Given the description of an element on the screen output the (x, y) to click on. 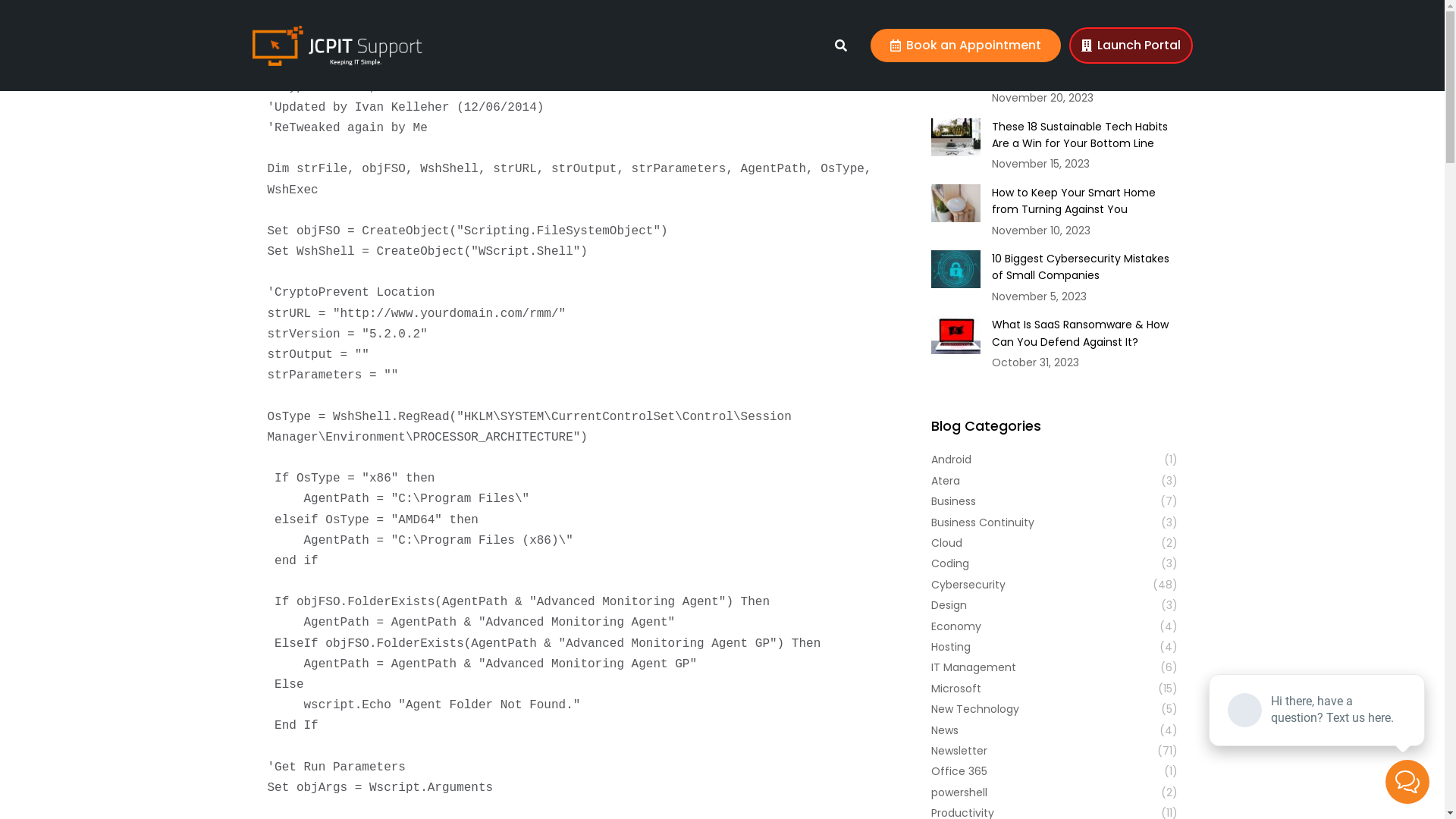
Launch Portal Element type: text (1130, 45)
Watch Out for Ransomware Pretending to Be a Windows Update! Element type: text (1084, 59)
What Is SaaS Ransomware & How Can You Defend Against It? Element type: text (1084, 333)
How to Keep Your Smart Home from Turning Against You Element type: text (1084, 201)
Book an Appointment Element type: text (965, 45)
Post Comment Element type: text (58, 14)
10 Biggest Cybersecurity Mistakes of Small Companies Element type: text (1084, 267)
